Given the description of an element on the screen output the (x, y) to click on. 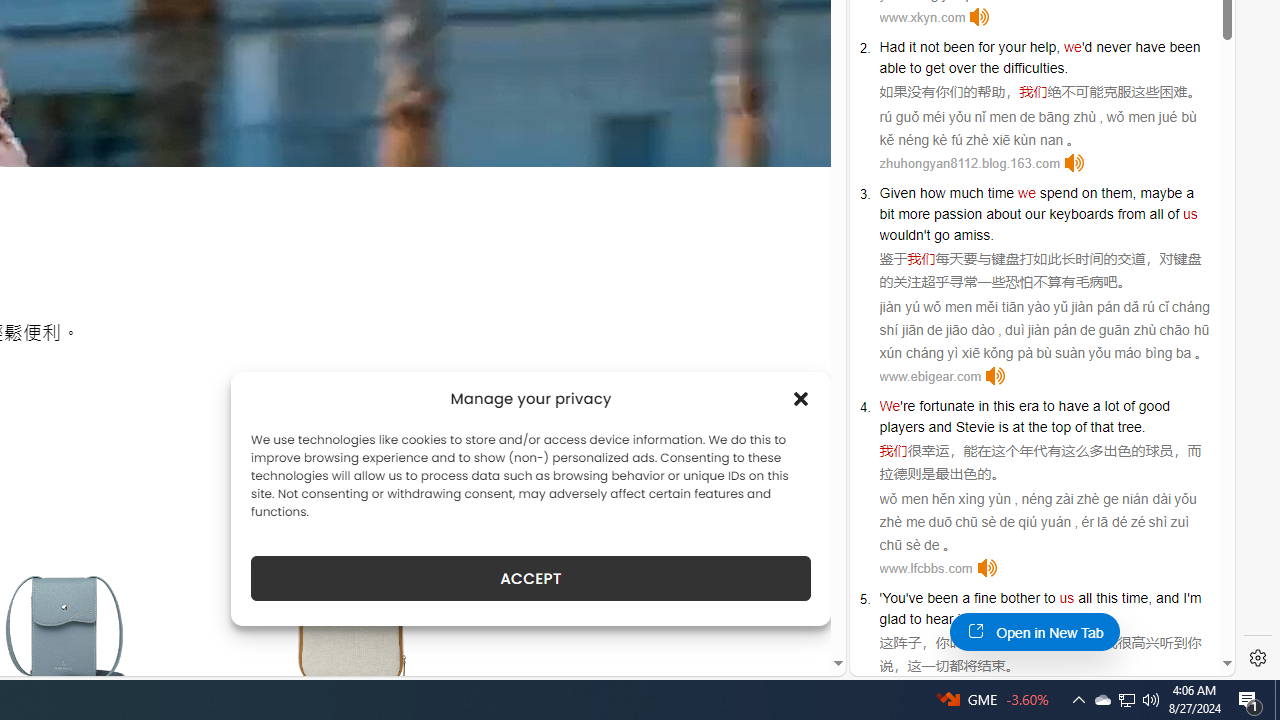
amiss (971, 234)
not (929, 46)
good (1153, 405)
this (1106, 597)
